Given the description of an element on the screen output the (x, y) to click on. 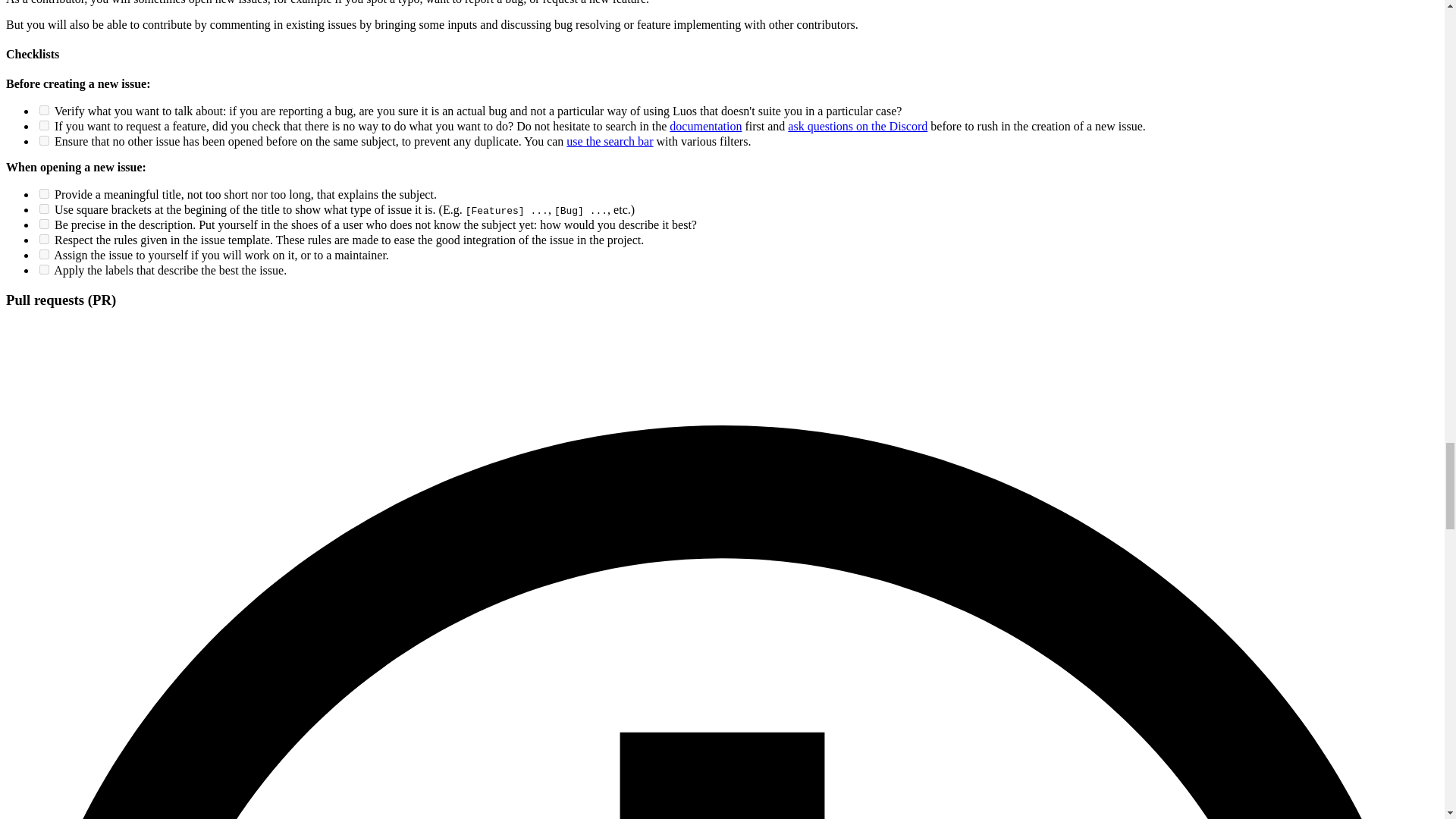
on (44, 224)
on (44, 269)
on (44, 125)
on (44, 208)
on (44, 239)
on (44, 254)
on (44, 140)
on (44, 194)
on (44, 110)
